Given the description of an element on the screen output the (x, y) to click on. 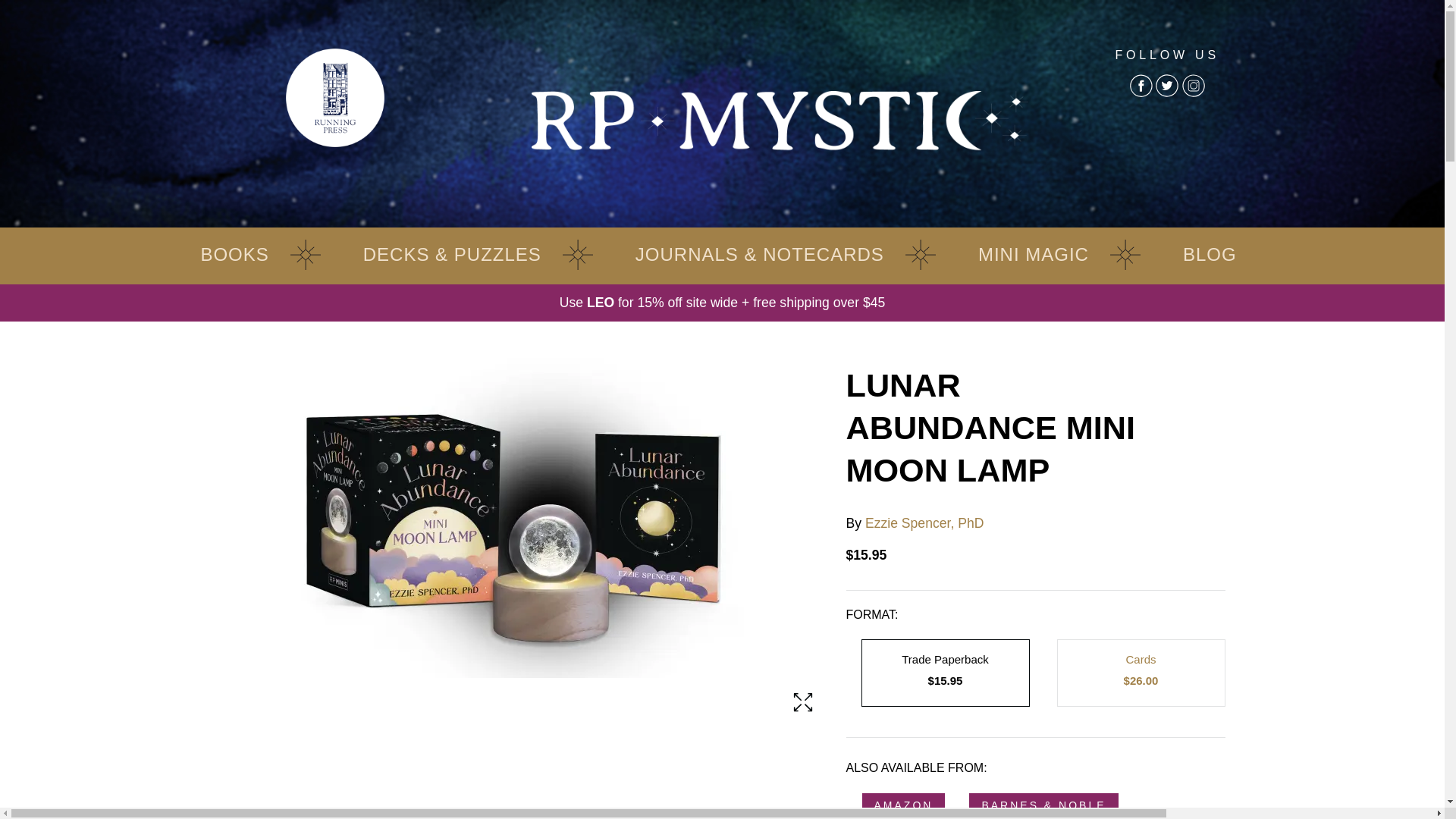
AMAZON (903, 805)
MINI MAGIC (1033, 261)
BOOKS (234, 261)
Open the full-size image (802, 701)
BLOG (1209, 261)
Ezzie Spencer, PhD (924, 522)
